Given the description of an element on the screen output the (x, y) to click on. 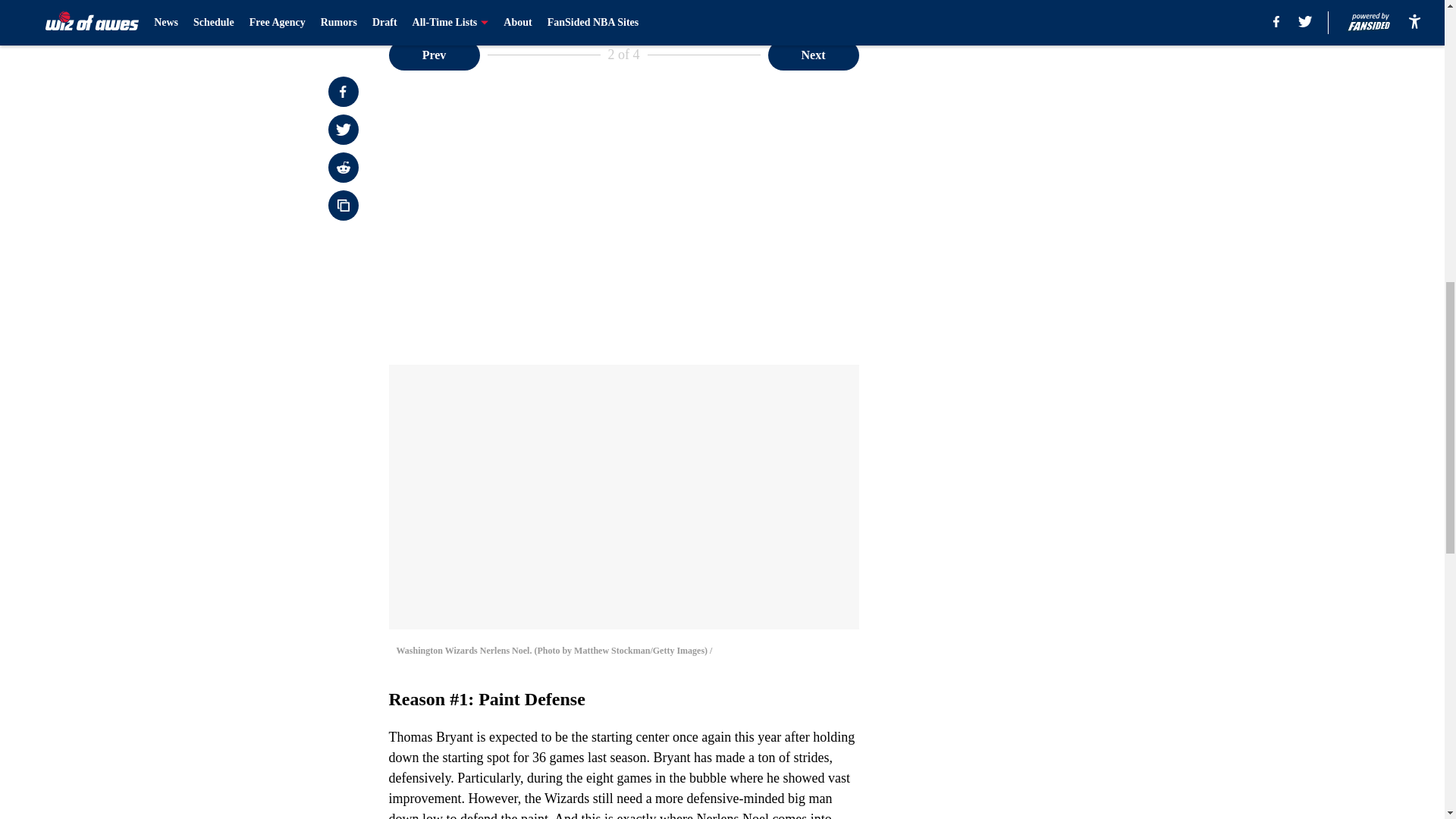
Prev (433, 54)
Next (813, 54)
